Given the description of an element on the screen output the (x, y) to click on. 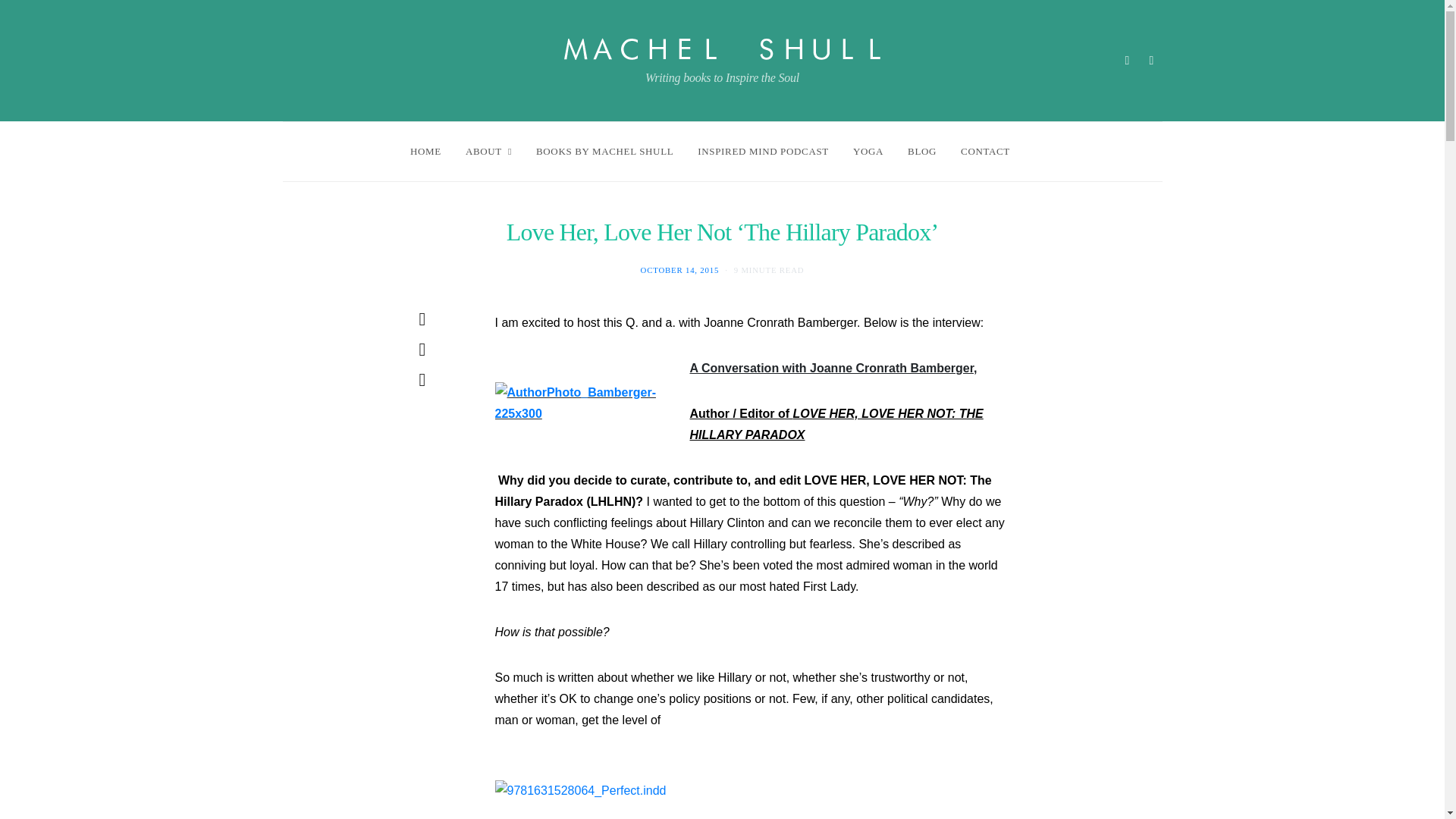
OCTOBER 14, 2015 (679, 269)
INSPIRED MIND PODCAST (762, 151)
BOOKS BY MACHEL SHULL (603, 151)
